Given the description of an element on the screen output the (x, y) to click on. 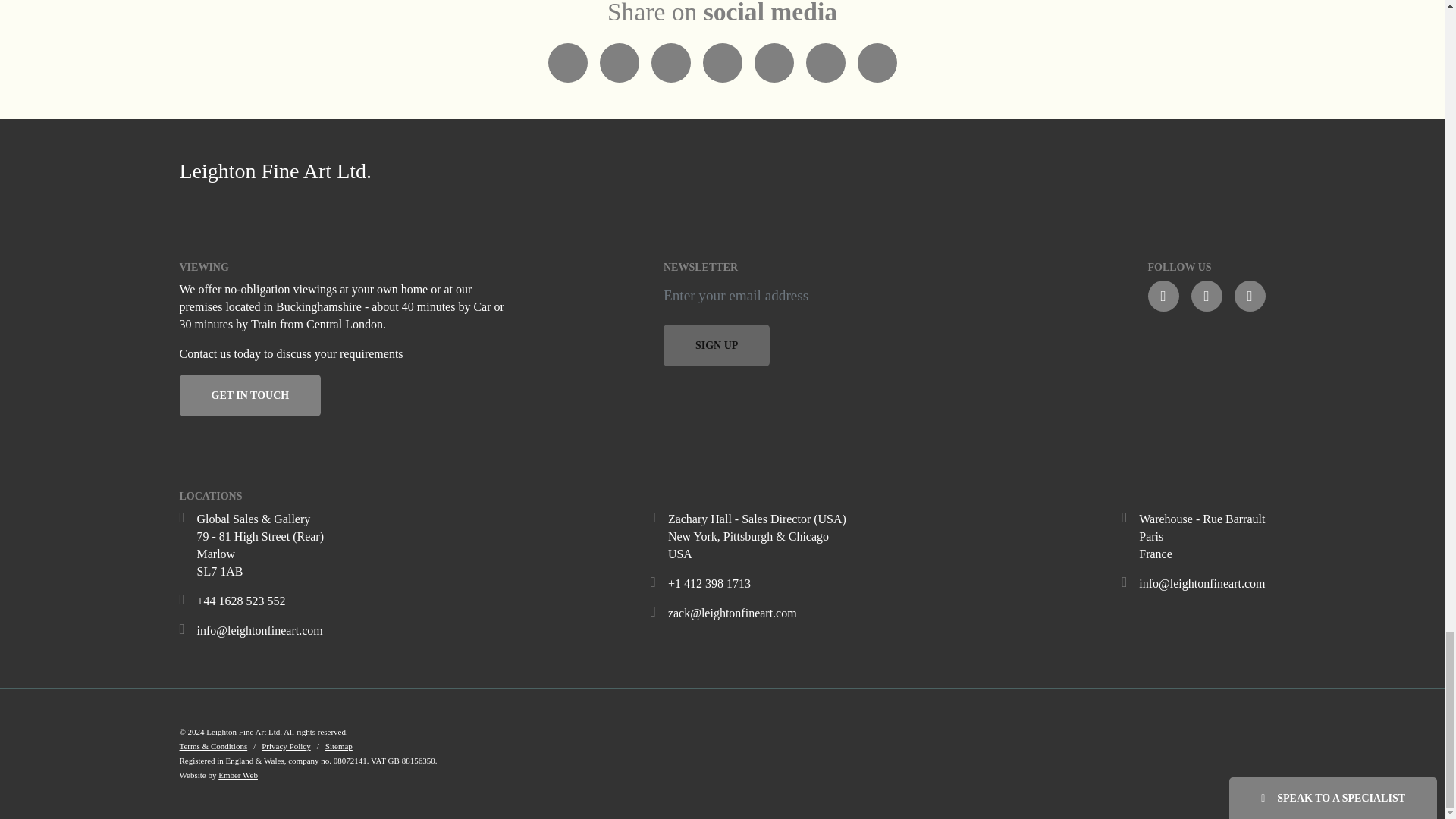
Leighton Fine Art Ltd. (441, 171)
